Given the description of an element on the screen output the (x, y) to click on. 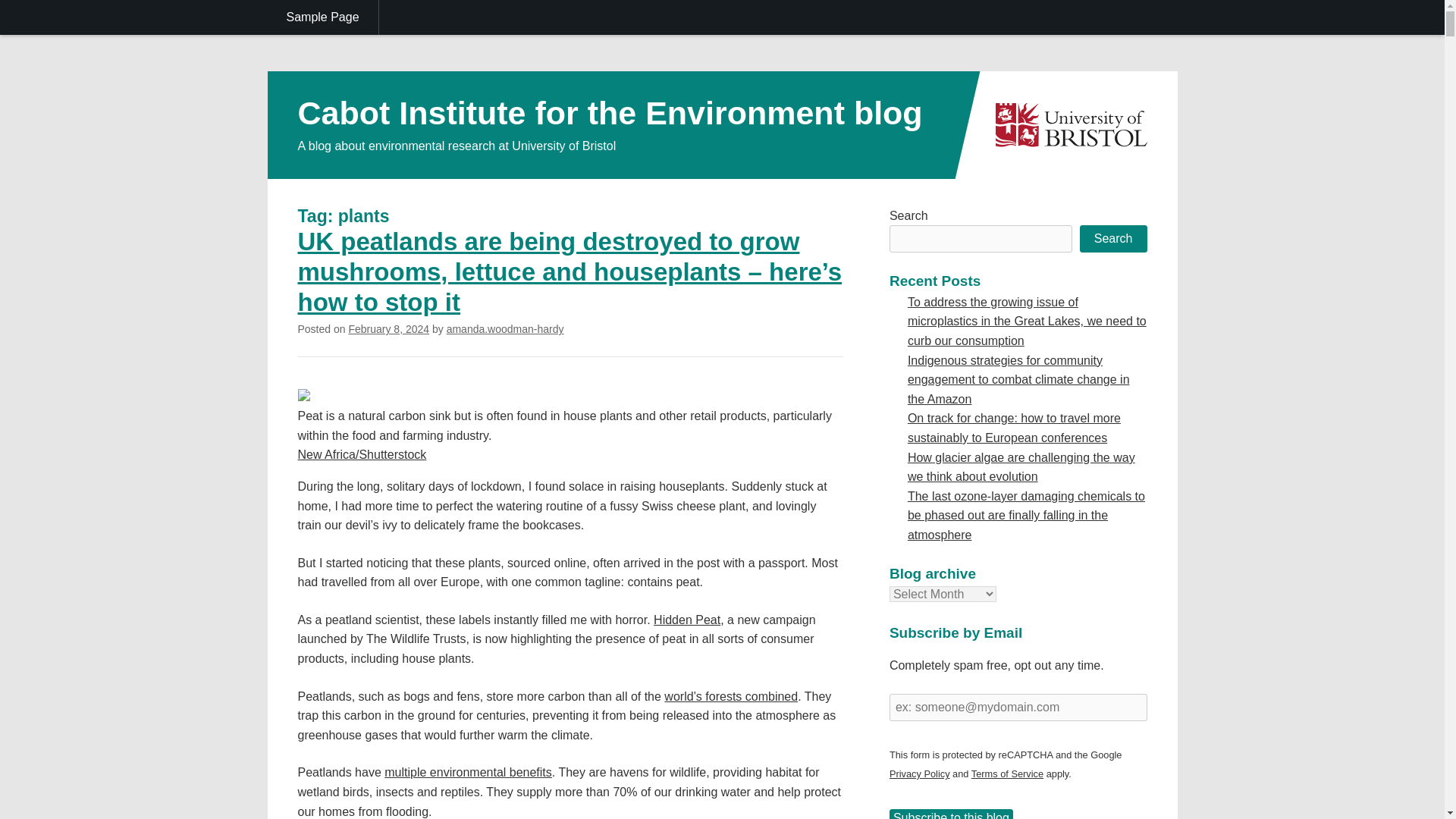
Hidden Peat (686, 619)
February 8, 2024 (388, 328)
Sample Page (322, 17)
multiple environmental benefits (467, 771)
Subscribe to this blog (951, 814)
amanda.woodman-hardy (505, 328)
Cabot Institute for the Environment blog (609, 113)
